Given the description of an element on the screen output the (x, y) to click on. 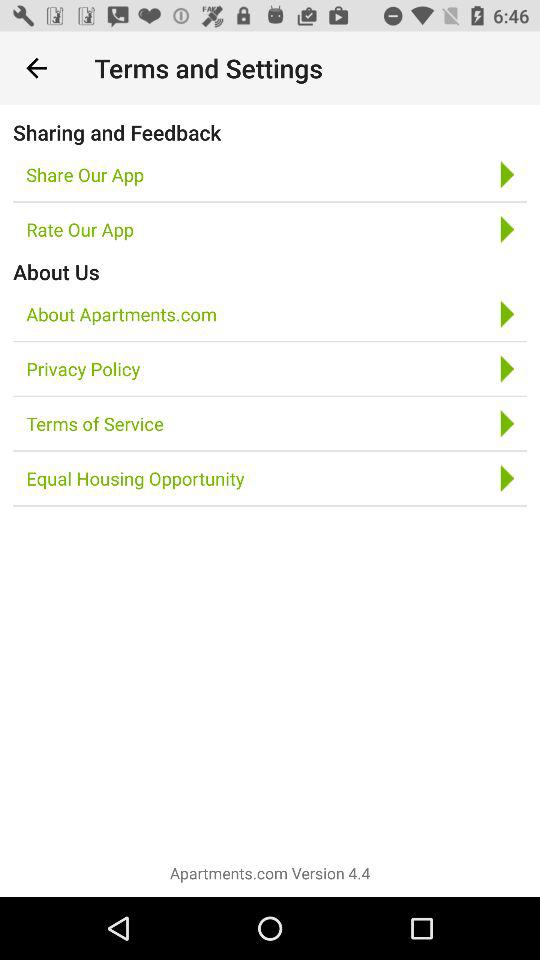
choose sharing and feedback (117, 132)
